Given the description of an element on the screen output the (x, y) to click on. 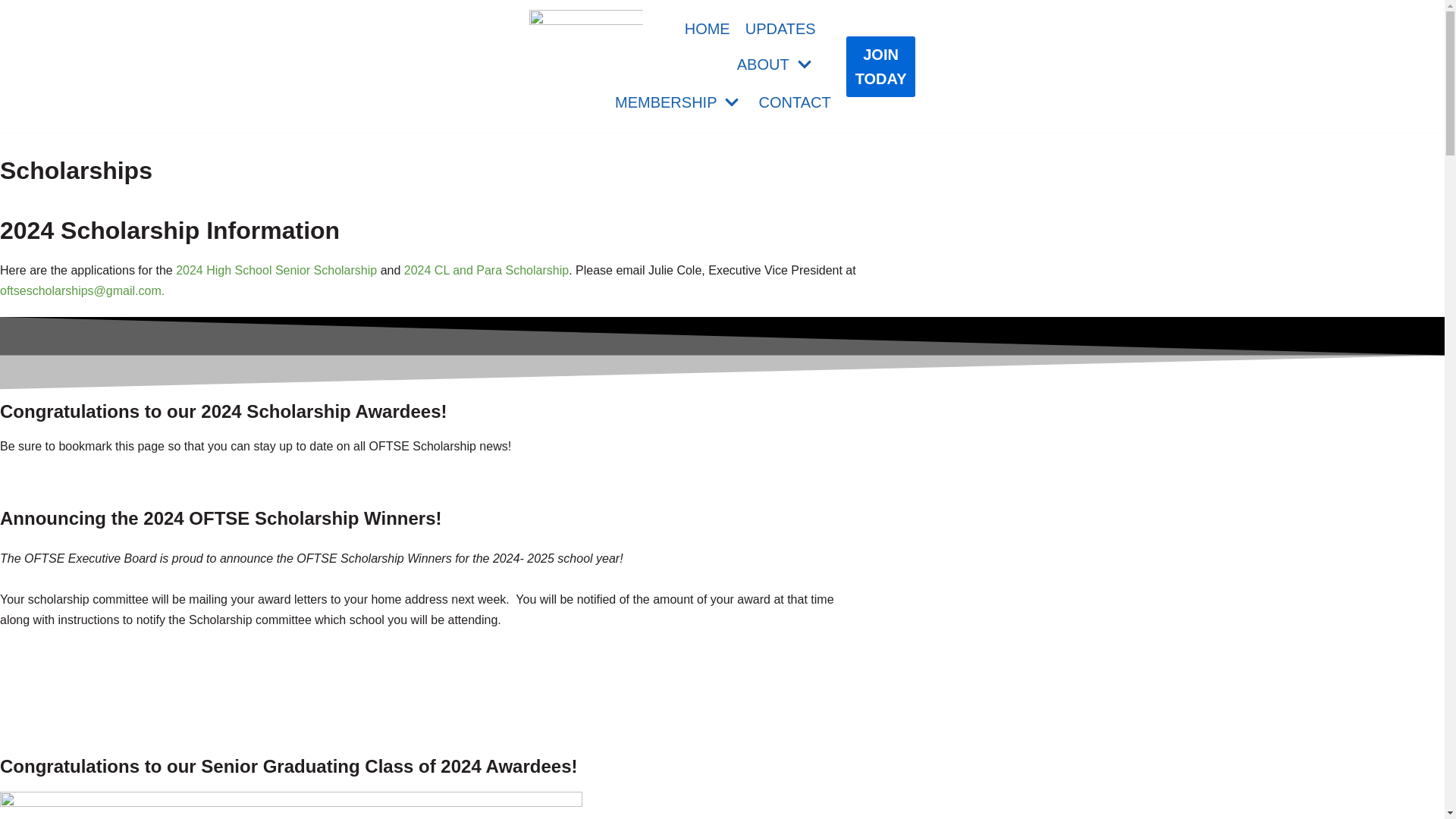
2024 High School Senior Scholarship (276, 269)
JOIN TODAY (880, 66)
Skip to content (15, 7)
HOME (707, 27)
CONTACT (793, 101)
vimeo Video Player (113, 687)
ABOUT (775, 64)
2024 CL and Para Scholarship (486, 269)
UPDATES (780, 27)
MEMBERSHIP (678, 101)
